Given the description of an element on the screen output the (x, y) to click on. 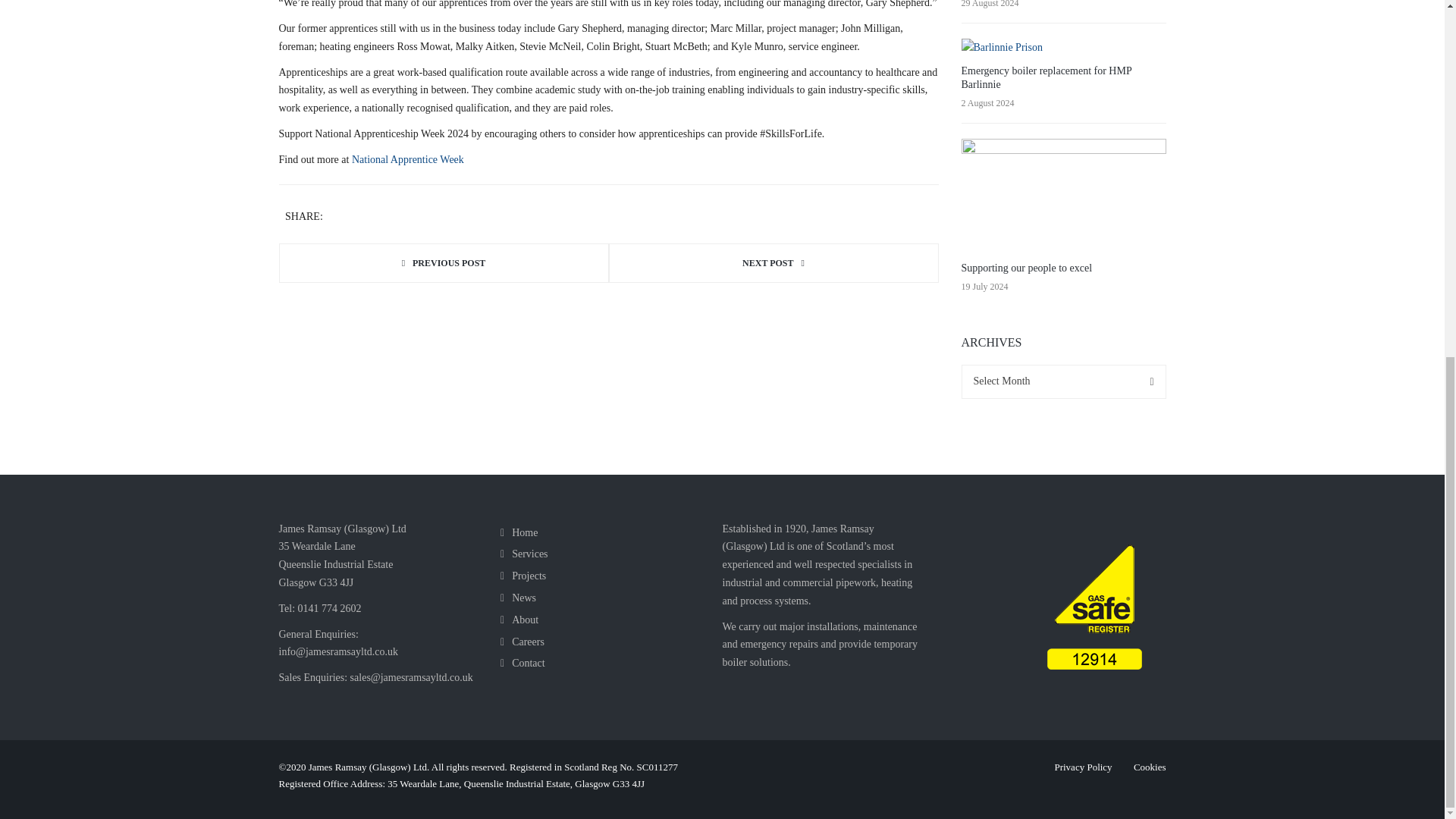
NEXT POST (772, 262)
Services (524, 553)
Select Month (1063, 381)
News (517, 597)
About (519, 619)
Careers (522, 641)
Supporting our people to excel (1026, 267)
PREVIOUS POST (443, 262)
National Apprentice Week (408, 159)
Emergency boiler replacement for HMP Barlinnie (1046, 77)
